Given the description of an element on the screen output the (x, y) to click on. 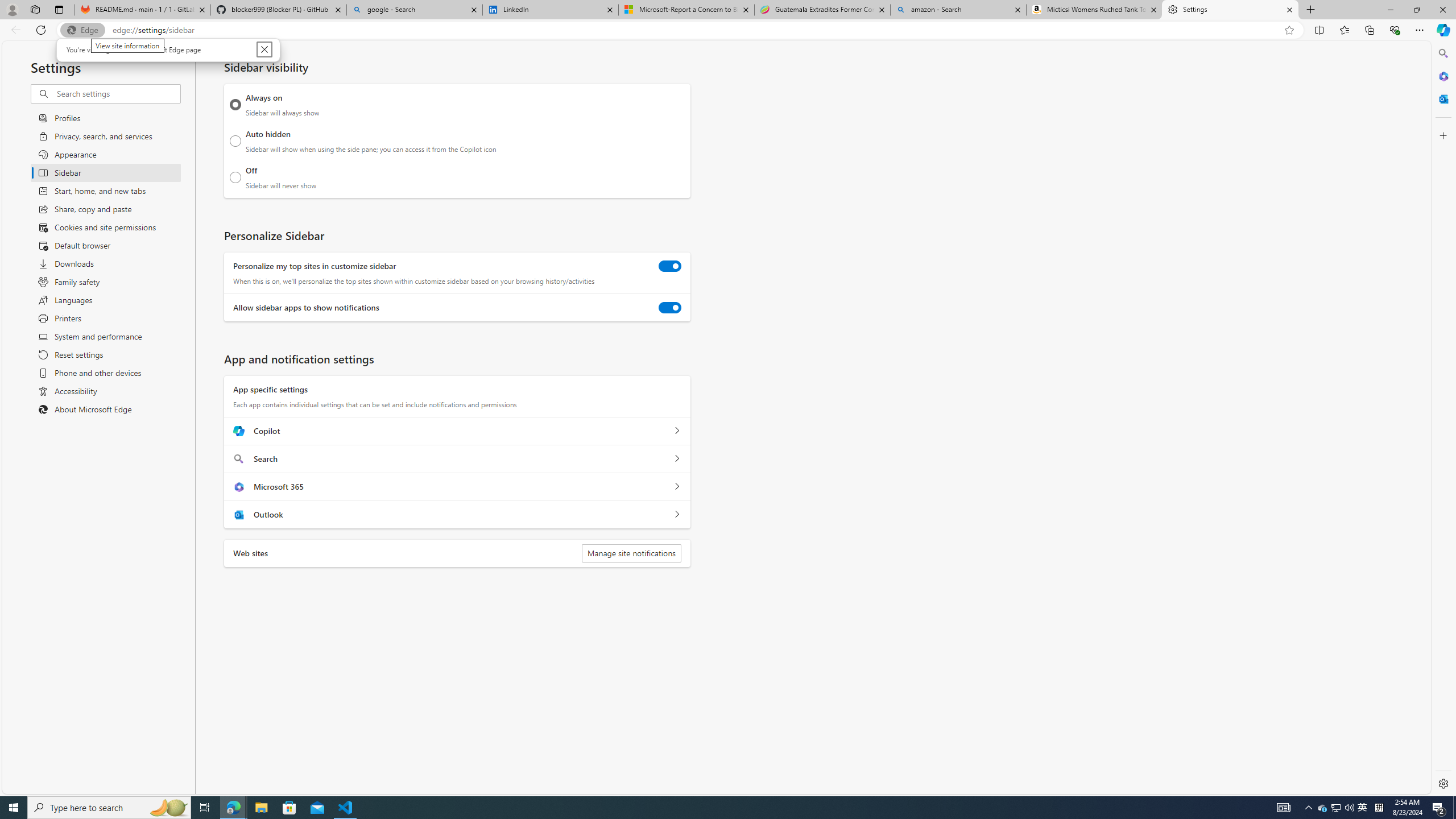
Action Center, 2 new notifications (1439, 807)
google - Search (414, 9)
Off Sidebar will never show (235, 177)
Start (13, 807)
User Promoted Notification Area (1336, 807)
Visual Studio Code - 1 running window (345, 807)
